Given the description of an element on the screen output the (x, y) to click on. 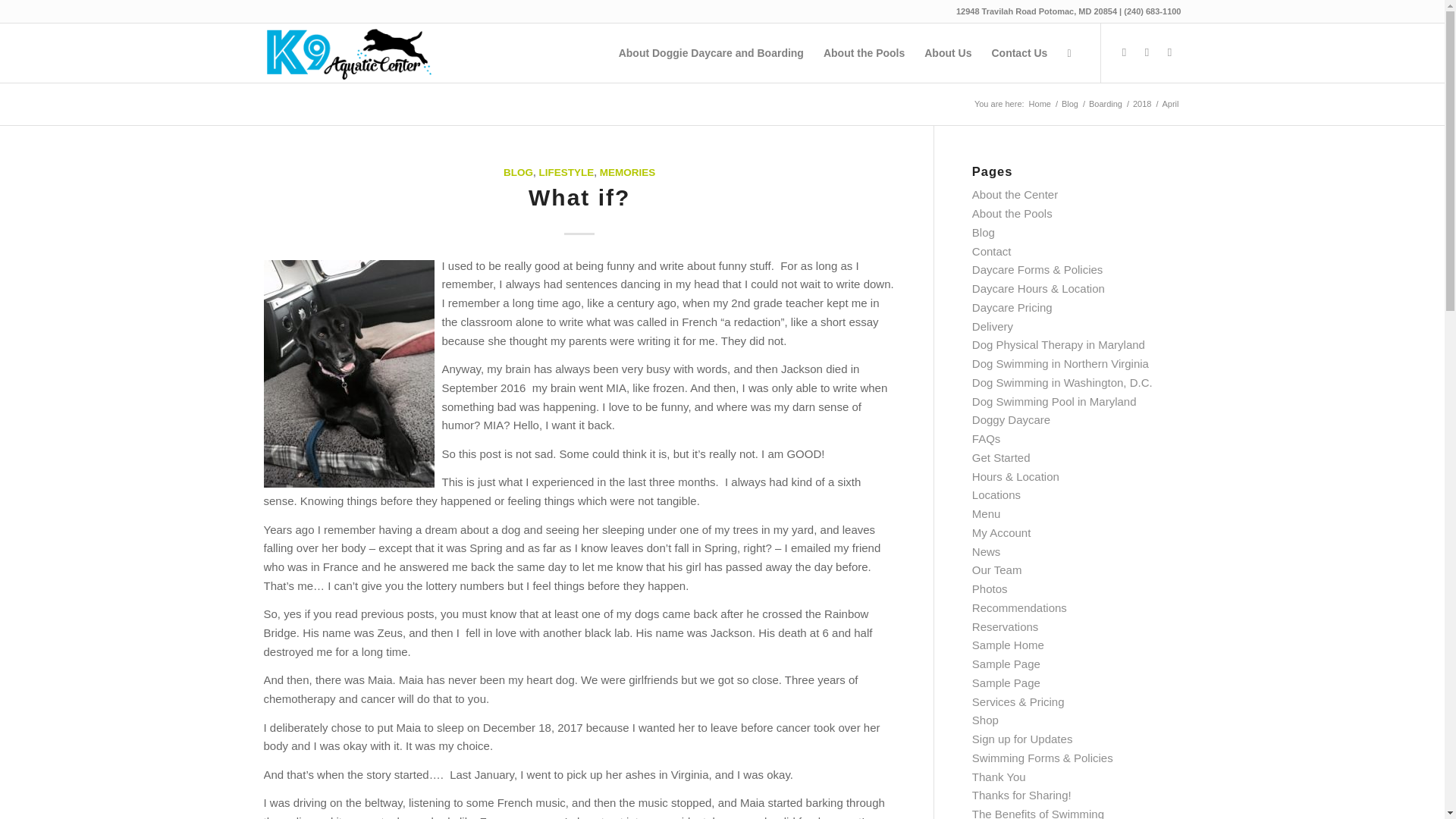
About Us (947, 52)
Blog (1069, 103)
Facebook (1146, 51)
Permanent Link: What if? (579, 197)
About the Pools (1012, 213)
About Doggie Daycare and Boarding (710, 52)
BLOG (517, 172)
2018 (1142, 103)
About the Pools (863, 52)
Boarding (1105, 103)
Twitter (1124, 51)
Blog (983, 232)
Boarding (1105, 103)
2018 (1142, 103)
LIFESTYLE (566, 172)
